Given the description of an element on the screen output the (x, y) to click on. 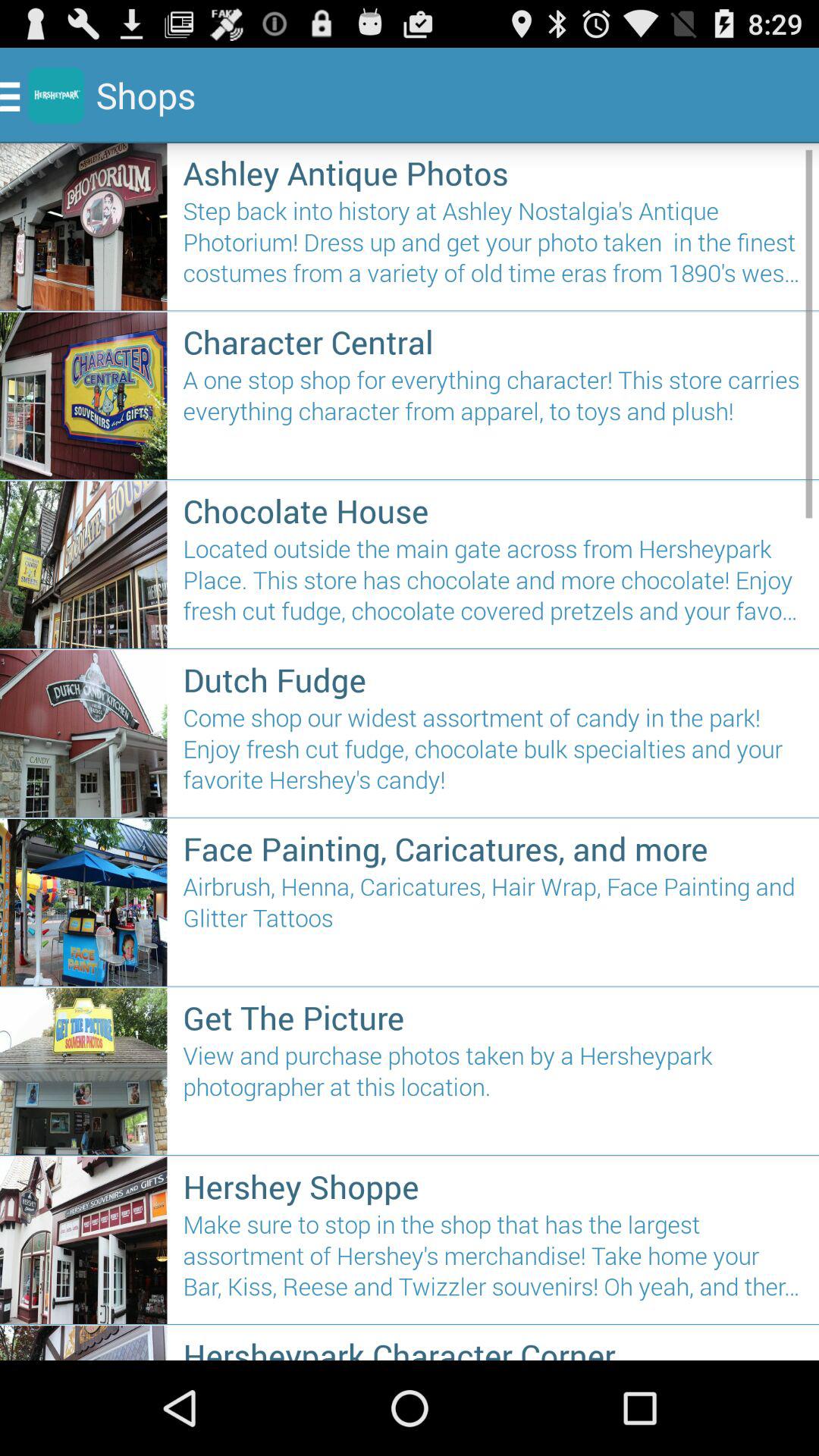
turn on the dutch fudge item (493, 679)
